Given the description of an element on the screen output the (x, y) to click on. 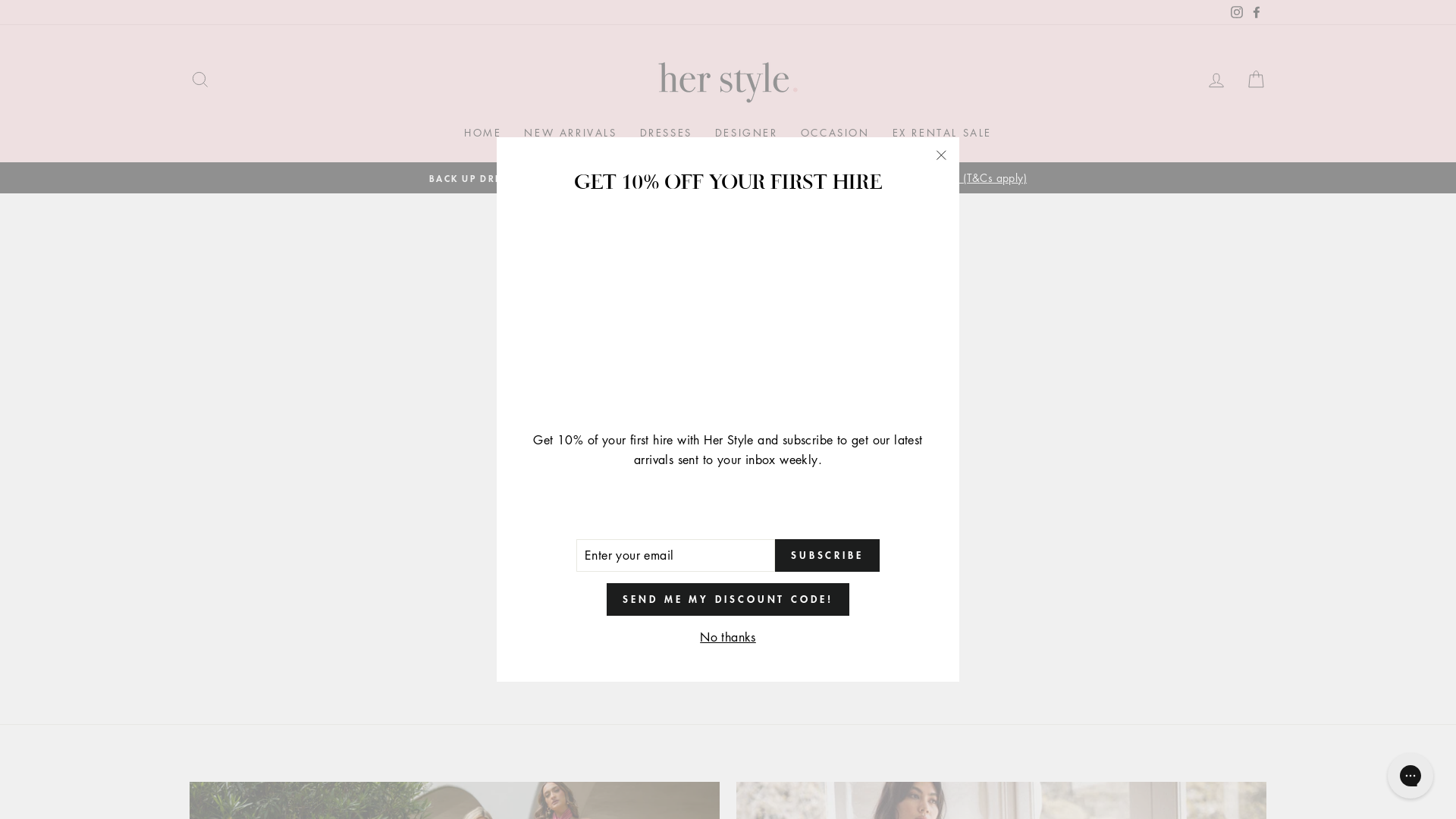
OCCASION Element type: text (835, 133)
Instagram Element type: text (1236, 12)
No thanks Element type: text (727, 637)
"Close (esc)" Element type: text (940, 155)
Skip to content Element type: text (0, 0)
DRESSES Element type: text (665, 133)
Facebook Element type: text (1256, 12)
Gorgias live chat messenger Element type: hover (1410, 775)
SEND ME MY DISCOUNT CODE! Element type: text (727, 599)
HOME Element type: text (482, 133)
SUBSCRIBE Element type: text (827, 555)
NEW ARRIVALS Element type: text (569, 133)
Continue shopping Element type: text (727, 384)
DESIGNER Element type: text (746, 133)
CART Element type: text (1255, 79)
SEARCH Element type: text (199, 79)
LOG IN Element type: text (1216, 79)
EX RENTAL SALE Element type: text (942, 133)
